Given the description of an element on the screen output the (x, y) to click on. 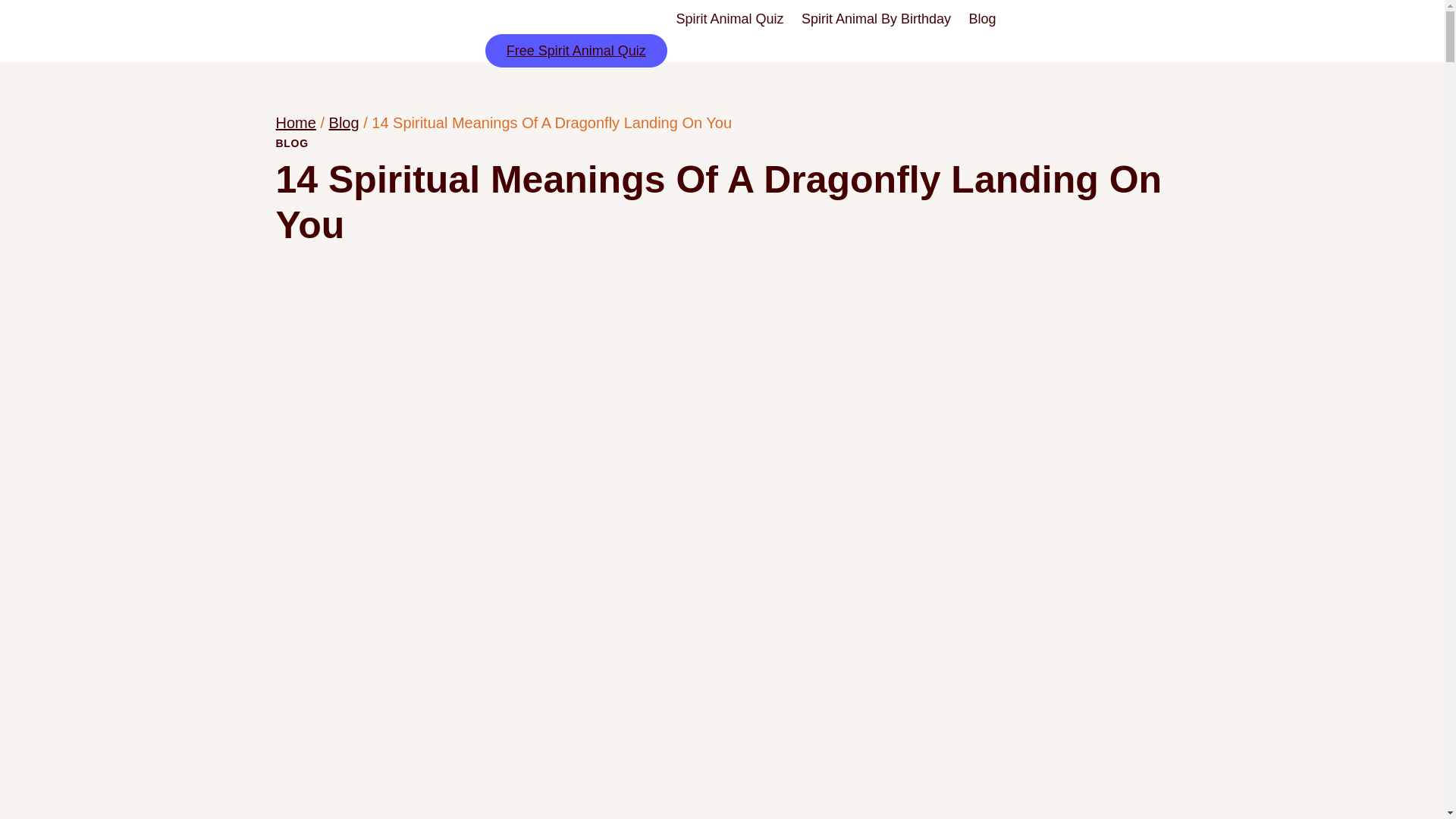
Home (295, 122)
Spirit Animal By Birthday (875, 19)
Free Spirit Animal Quiz (575, 50)
Spirit Animal Quiz (729, 19)
Blog (981, 19)
Blog (344, 122)
BLOG (292, 143)
